Given the description of an element on the screen output the (x, y) to click on. 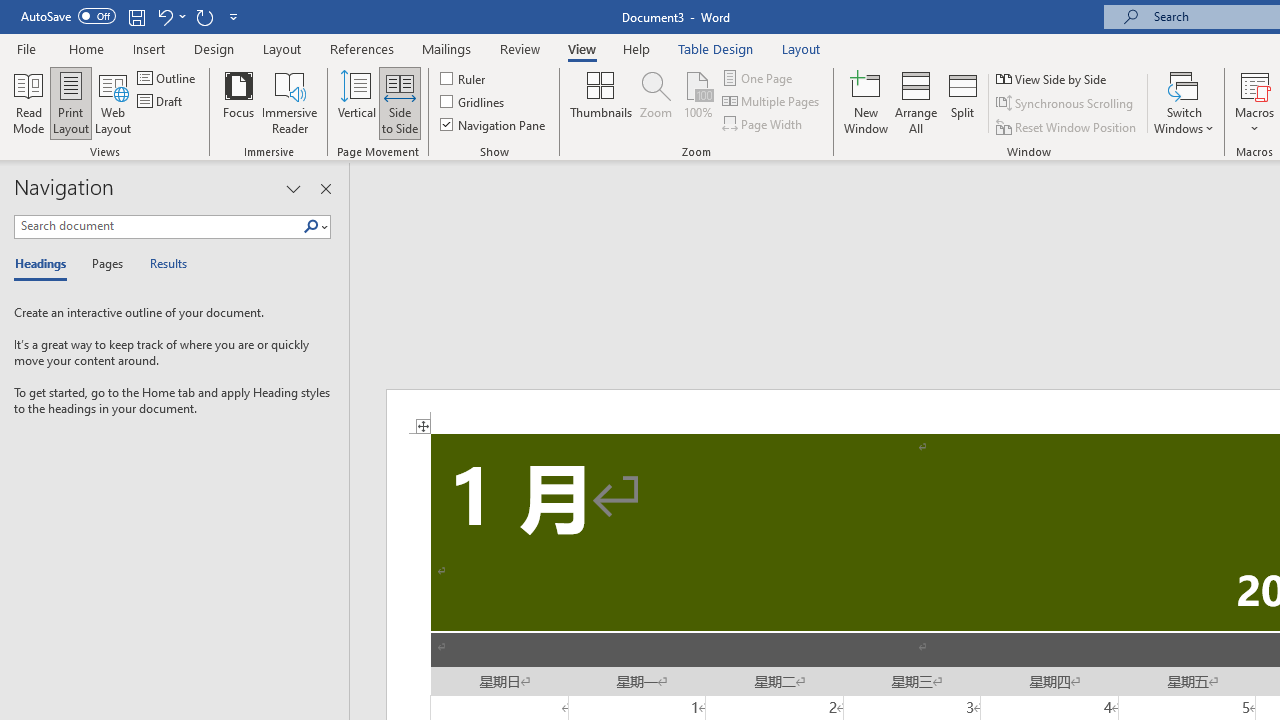
One Page (758, 78)
Switch Windows (1184, 102)
View Macros (1254, 84)
Multiple Pages (772, 101)
Reset Window Position (1068, 126)
